Given the description of an element on the screen output the (x, y) to click on. 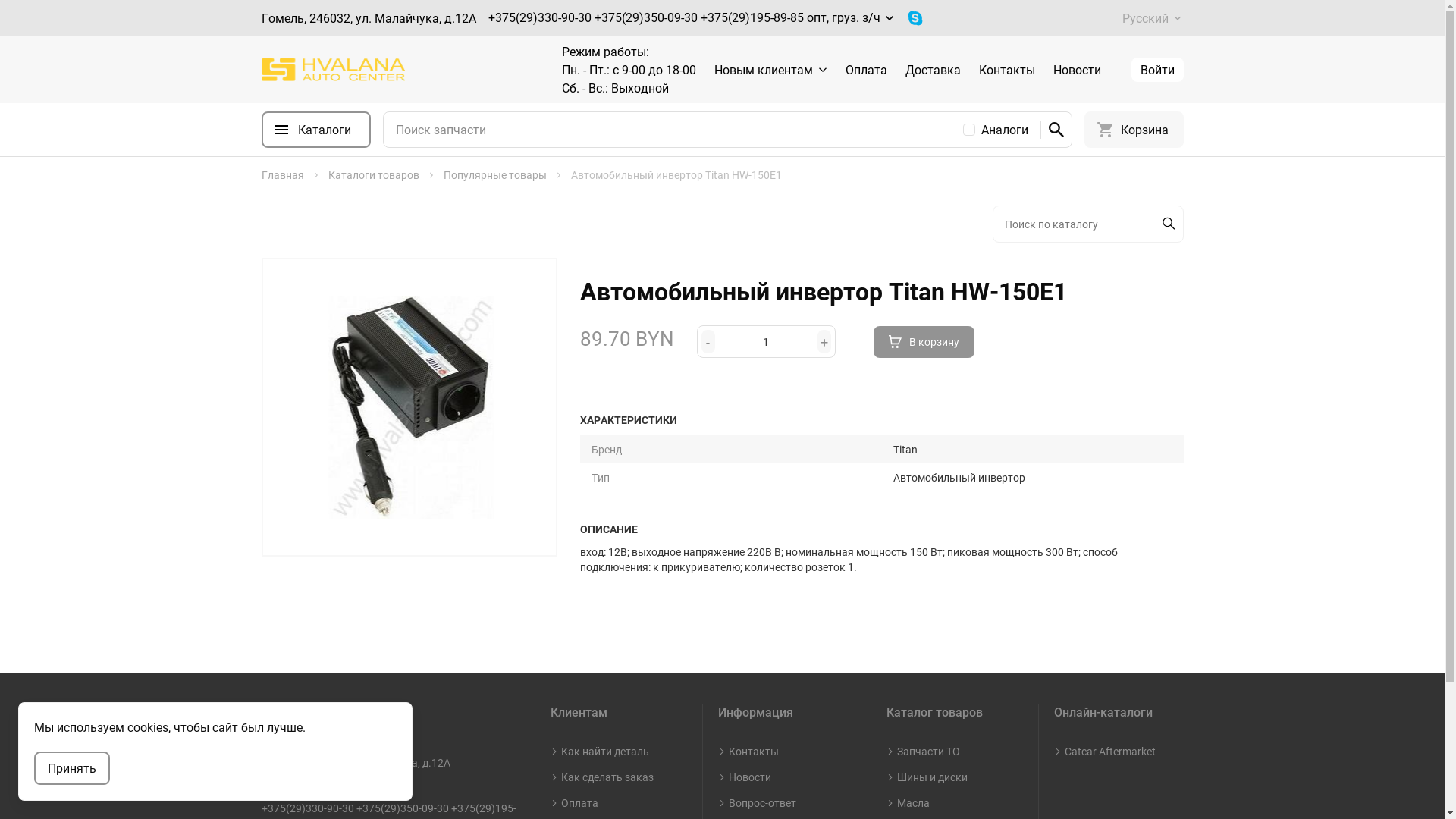
Catcar Aftermarket Element type: text (1109, 751)
